Given the description of an element on the screen output the (x, y) to click on. 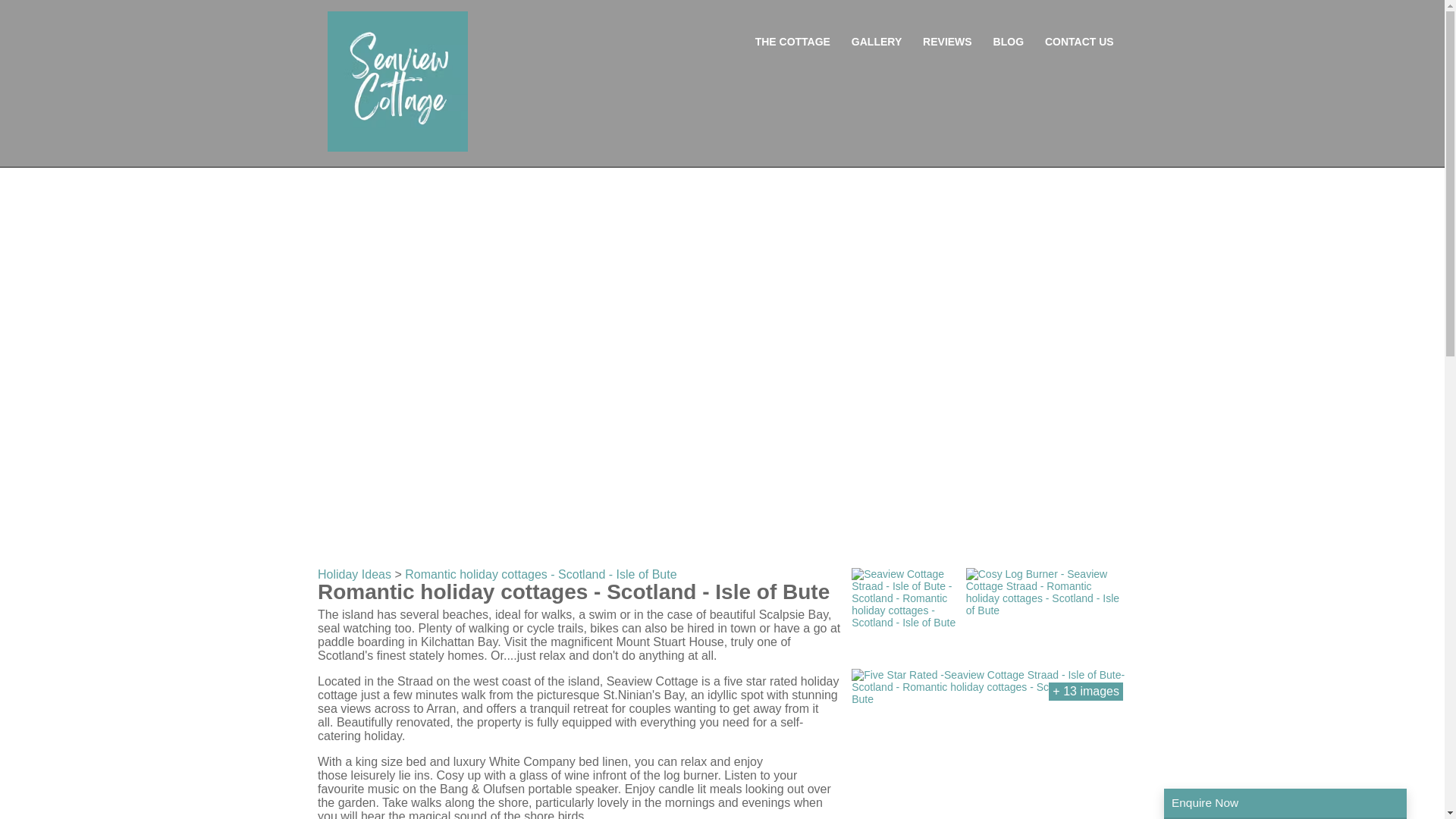
Back to Homepage (397, 81)
GALLERY (876, 41)
THE COTTAGE (792, 41)
Holiday Ideas (354, 574)
REVIEWS (947, 41)
Romantic holiday cottages - Scotland - Isle of Bute (540, 574)
CONTACT US (1079, 41)
BLOG (1007, 41)
